Given the description of an element on the screen output the (x, y) to click on. 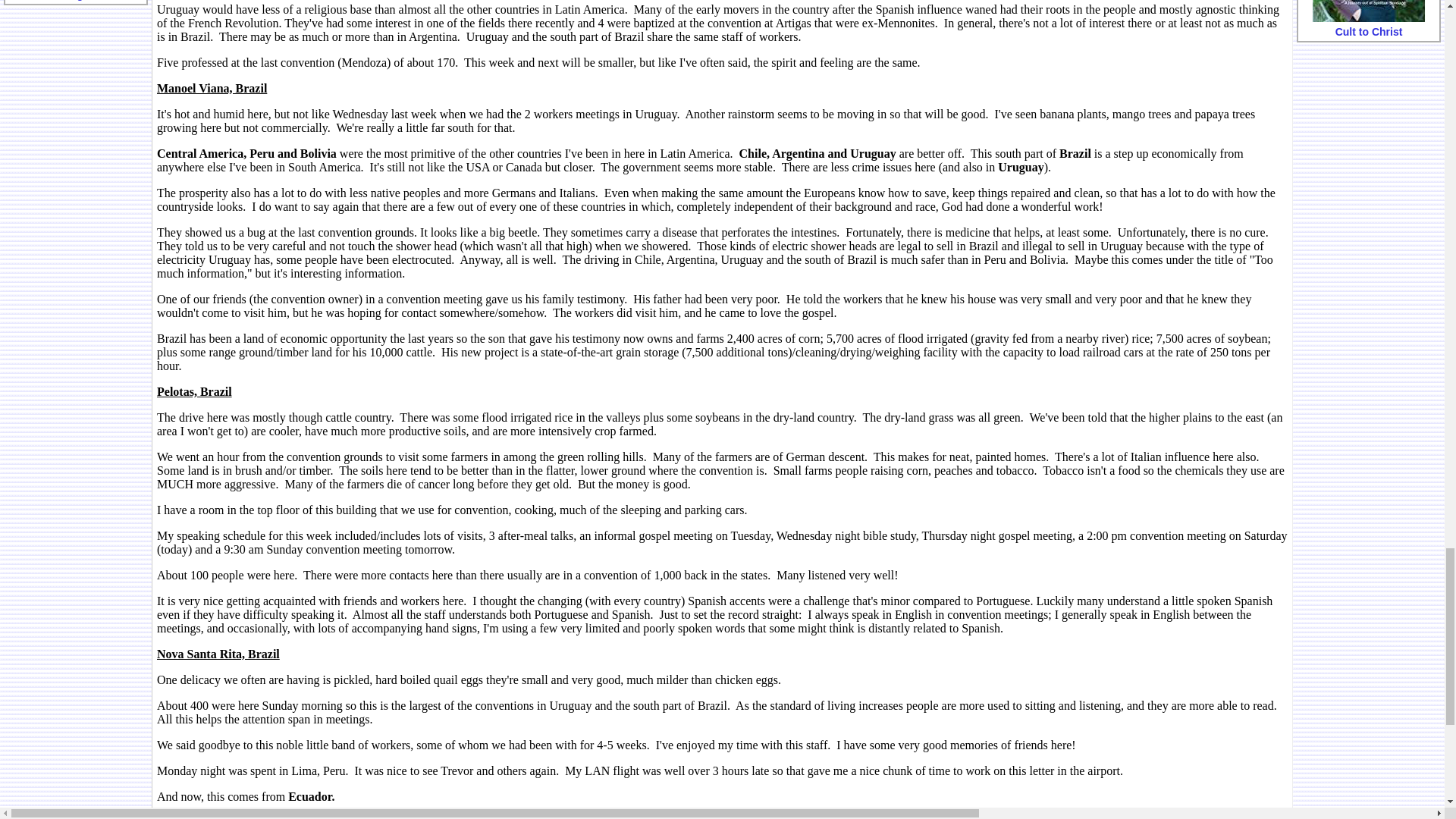
Cult to Christ (1368, 11)
